Given the description of an element on the screen output the (x, y) to click on. 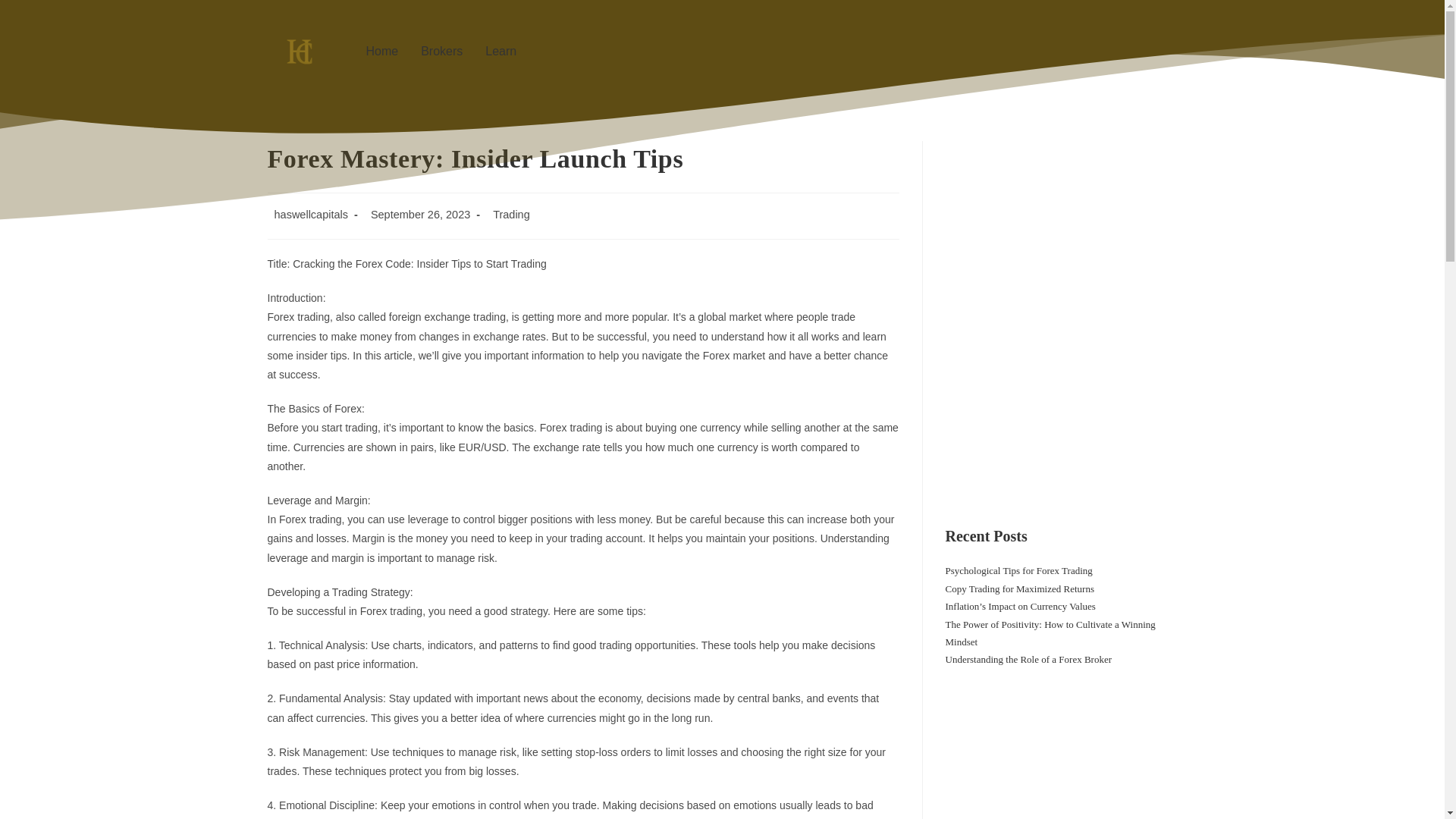
Learn (500, 51)
Psychological Tips for Forex Trading (1018, 570)
Trading (511, 214)
Posts by haswellcapitals (312, 214)
Copy Trading for Maximized Returns (1018, 588)
The Power of Positivity: How to Cultivate a Winning Mindset (1049, 633)
Understanding the Role of a Forex Broker (1028, 659)
Brokers (441, 51)
Home (381, 51)
haswellcapitals (312, 214)
